Given the description of an element on the screen output the (x, y) to click on. 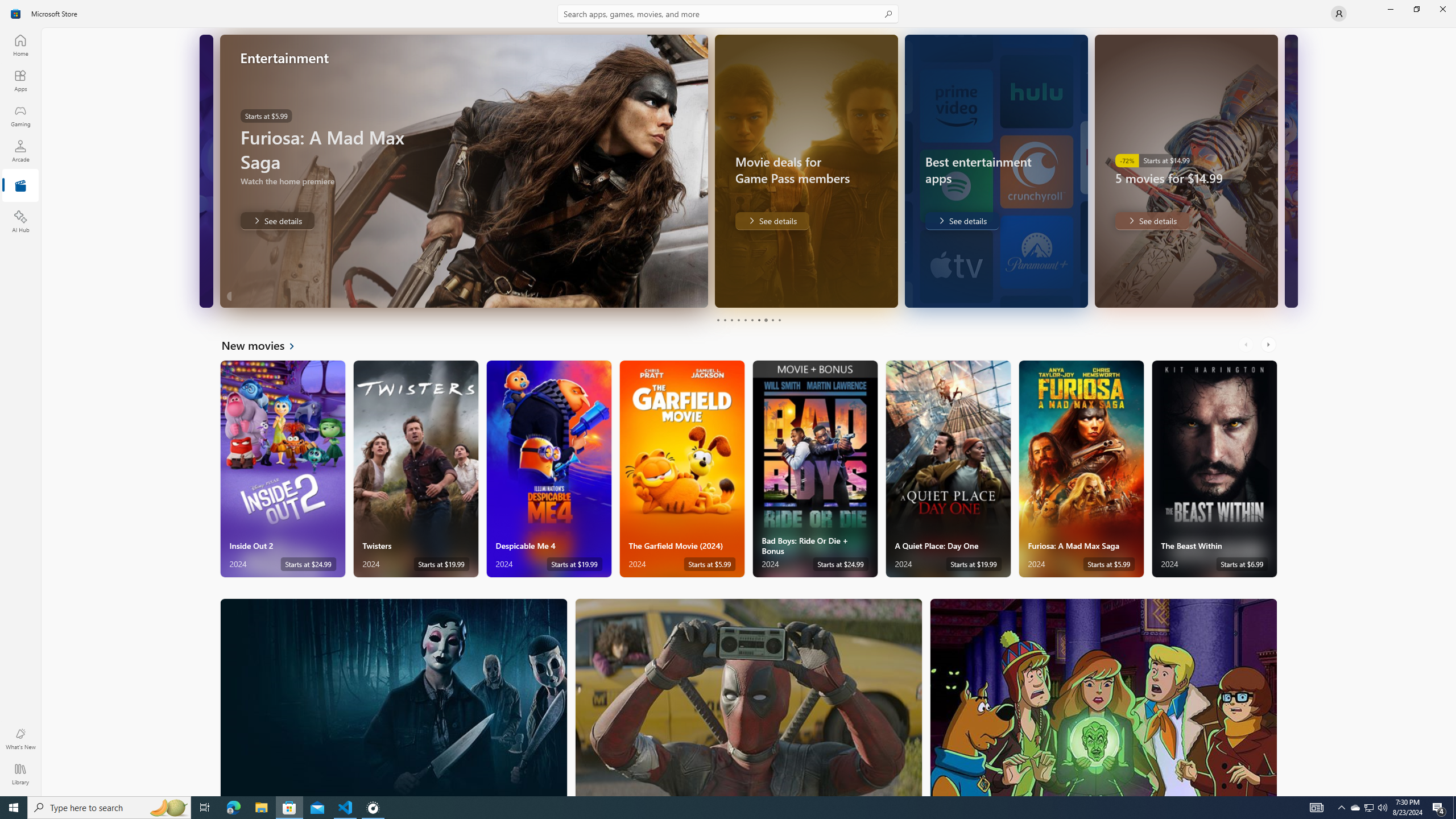
Page 8 (764, 319)
Action & Adventure (749, 697)
AutomationID: LeftScrollButton (1246, 344)
What's New (20, 738)
AutomationID: PosterImage (1103, 697)
AutomationID: Image (1290, 170)
Page 2 (724, 319)
Library (20, 773)
Arcade (20, 150)
Close Microsoft Store (1442, 9)
